Given the description of an element on the screen output the (x, y) to click on. 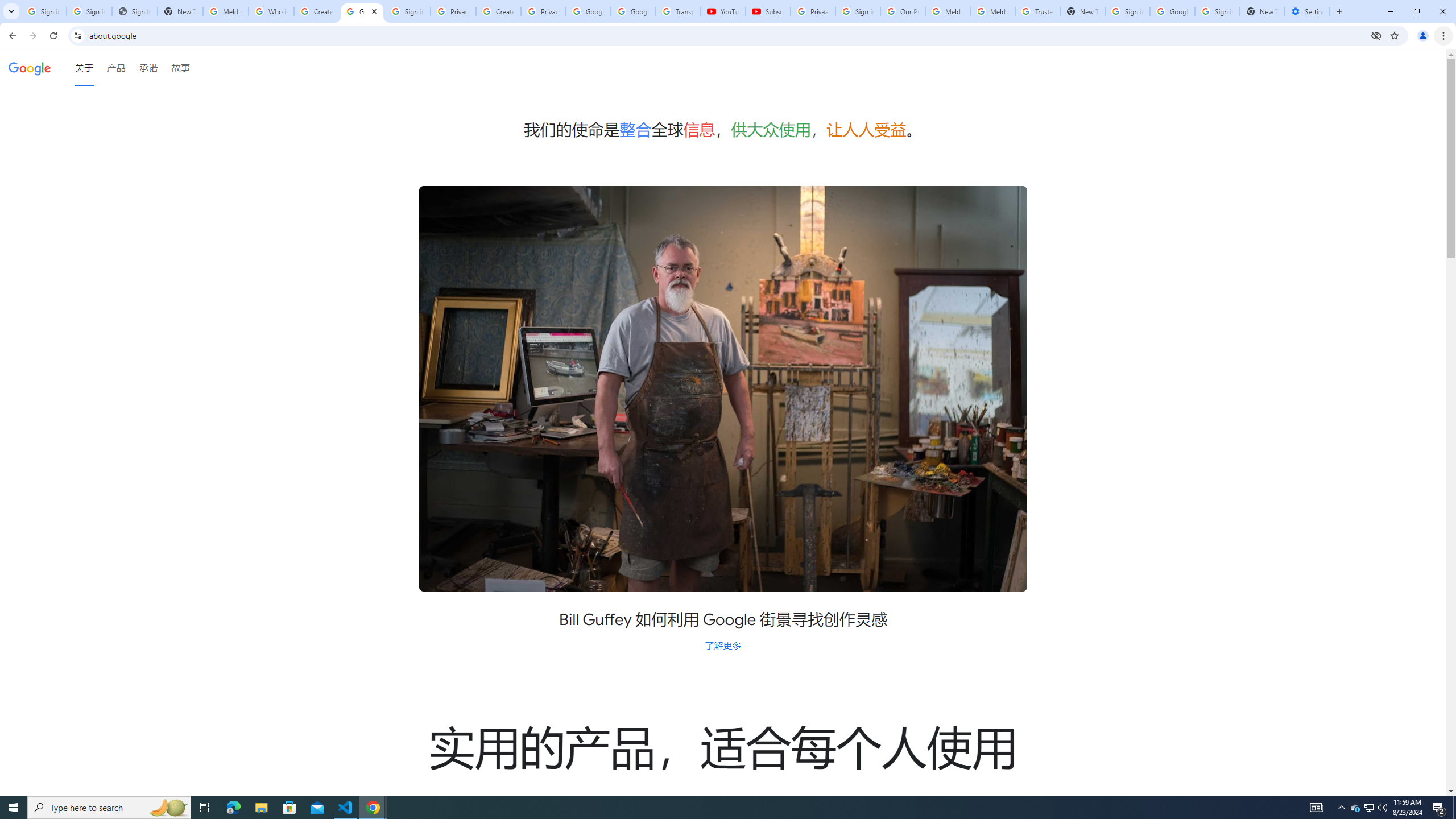
Sign in - Google Accounts (43, 11)
Google Cybersecurity Innovations - Google Safety Center (1171, 11)
